Given the description of an element on the screen output the (x, y) to click on. 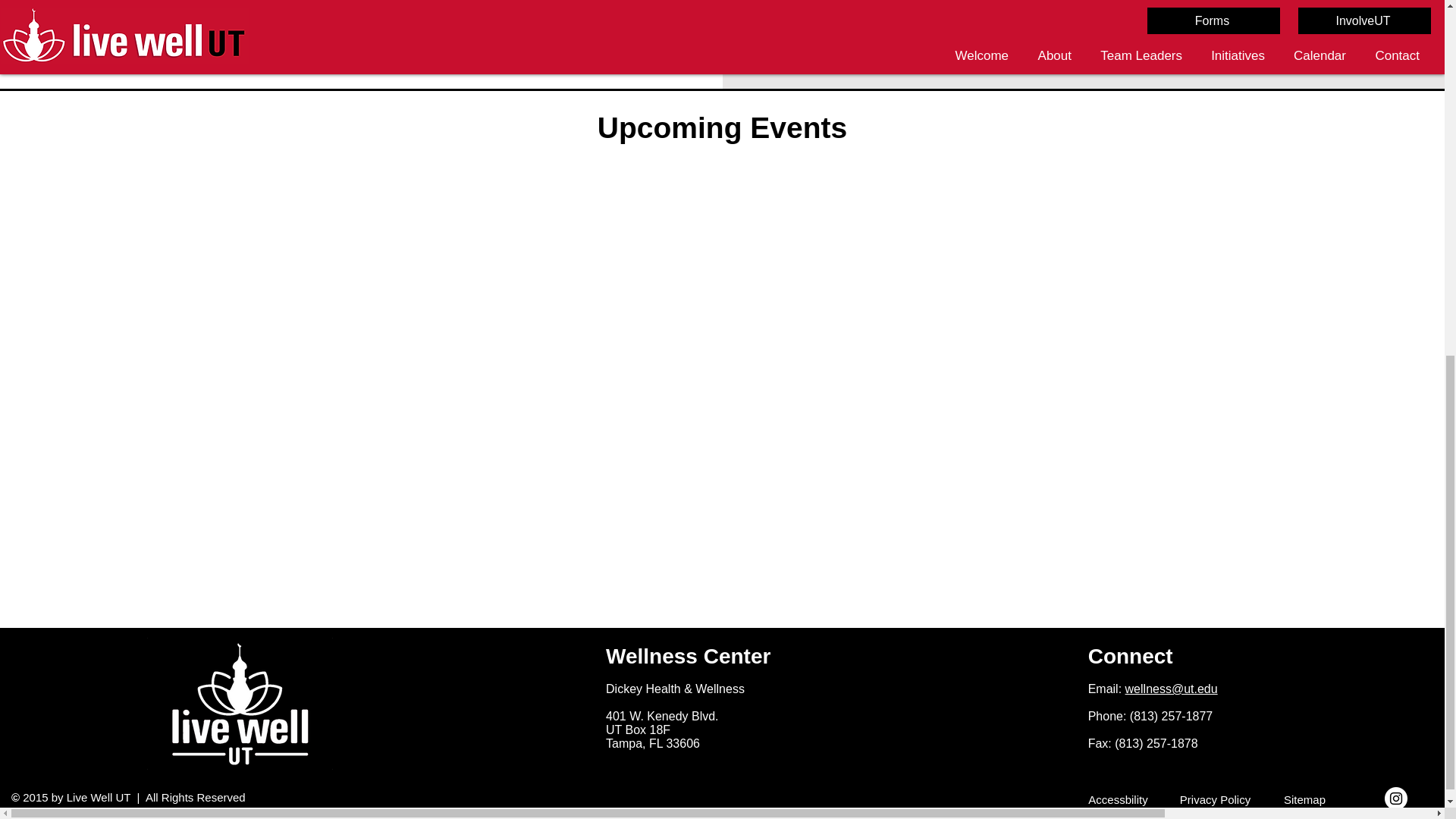
Sitemap (1305, 799)
Privacy Policy (1216, 799)
Accessbility (1119, 799)
